Given the description of an element on the screen output the (x, y) to click on. 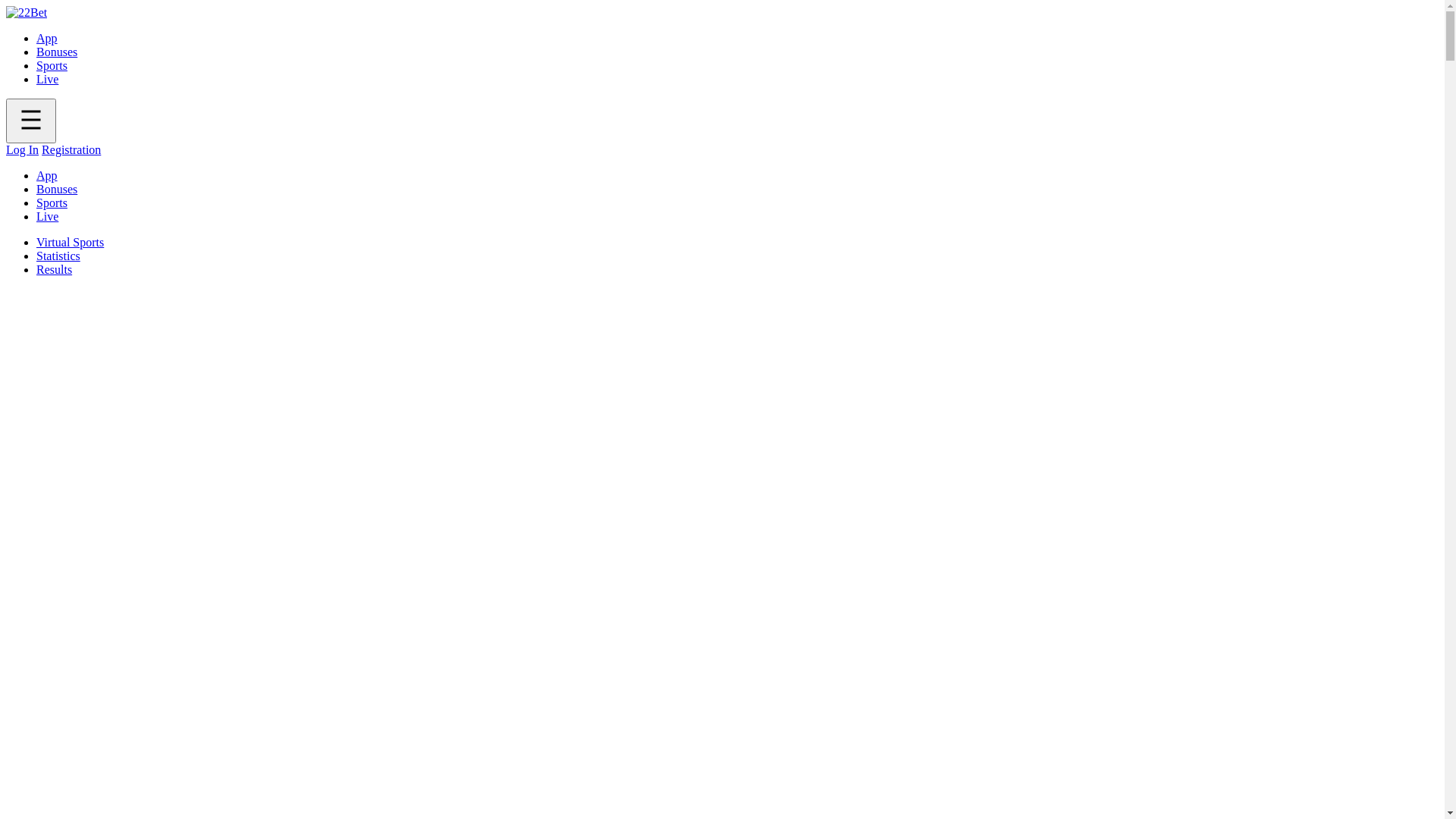
22Bet Element type: hover (26, 12)
Bonuses Element type: text (56, 51)
Results Element type: text (54, 269)
Sports Element type: text (51, 202)
Bonuses Element type: text (56, 188)
Log In Element type: text (22, 149)
App Element type: text (46, 175)
Statistics Element type: text (58, 255)
App Element type: text (46, 37)
Virtual Sports Element type: text (69, 241)
Sports Element type: text (51, 65)
Live Element type: text (47, 216)
Live Element type: text (47, 78)
Registration Element type: text (70, 149)
